Given the description of an element on the screen output the (x, y) to click on. 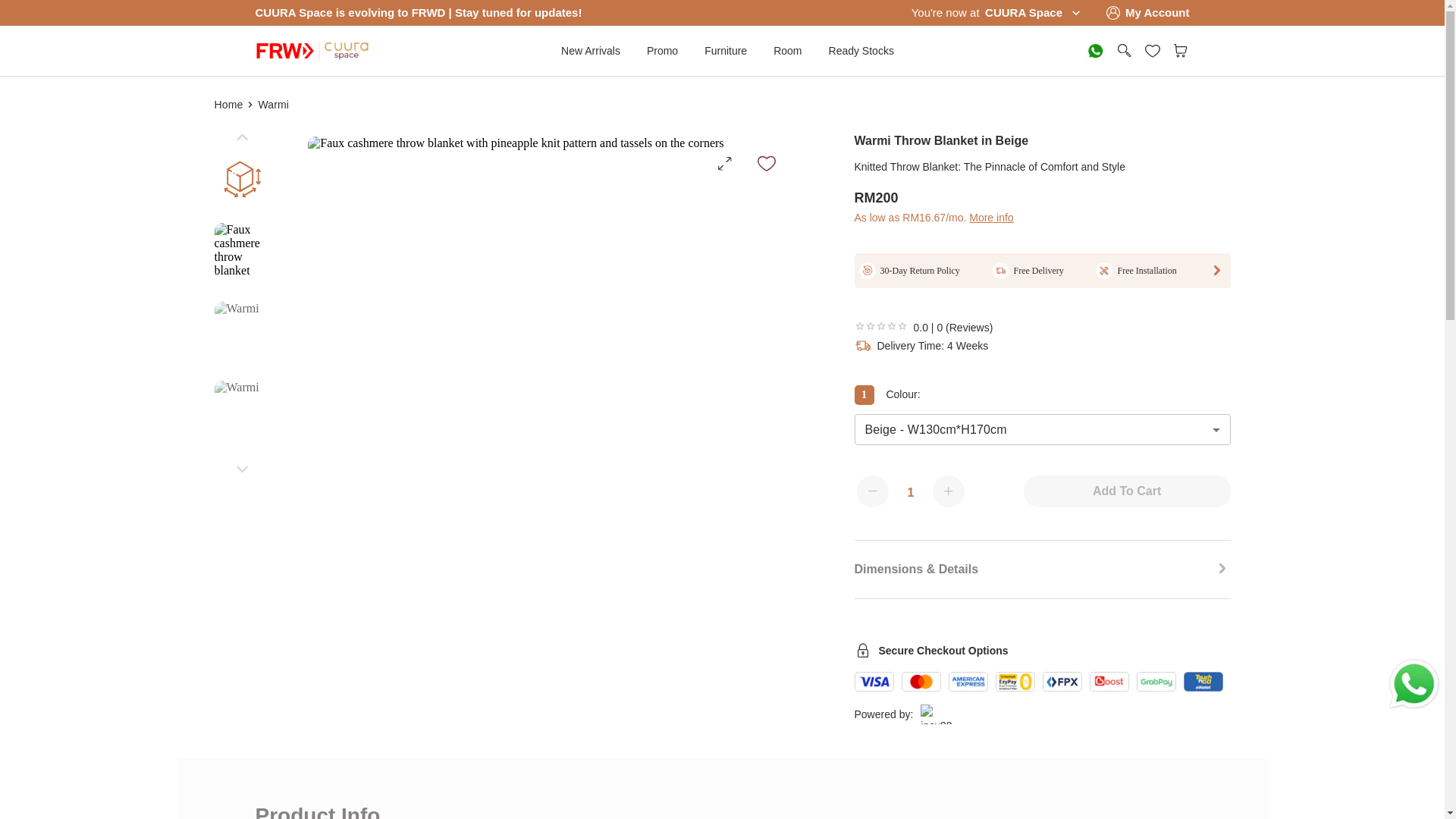
New Arrivals (590, 50)
Home (228, 104)
Add To Cart (1126, 490)
Ready Stocks (860, 50)
